Given the description of an element on the screen output the (x, y) to click on. 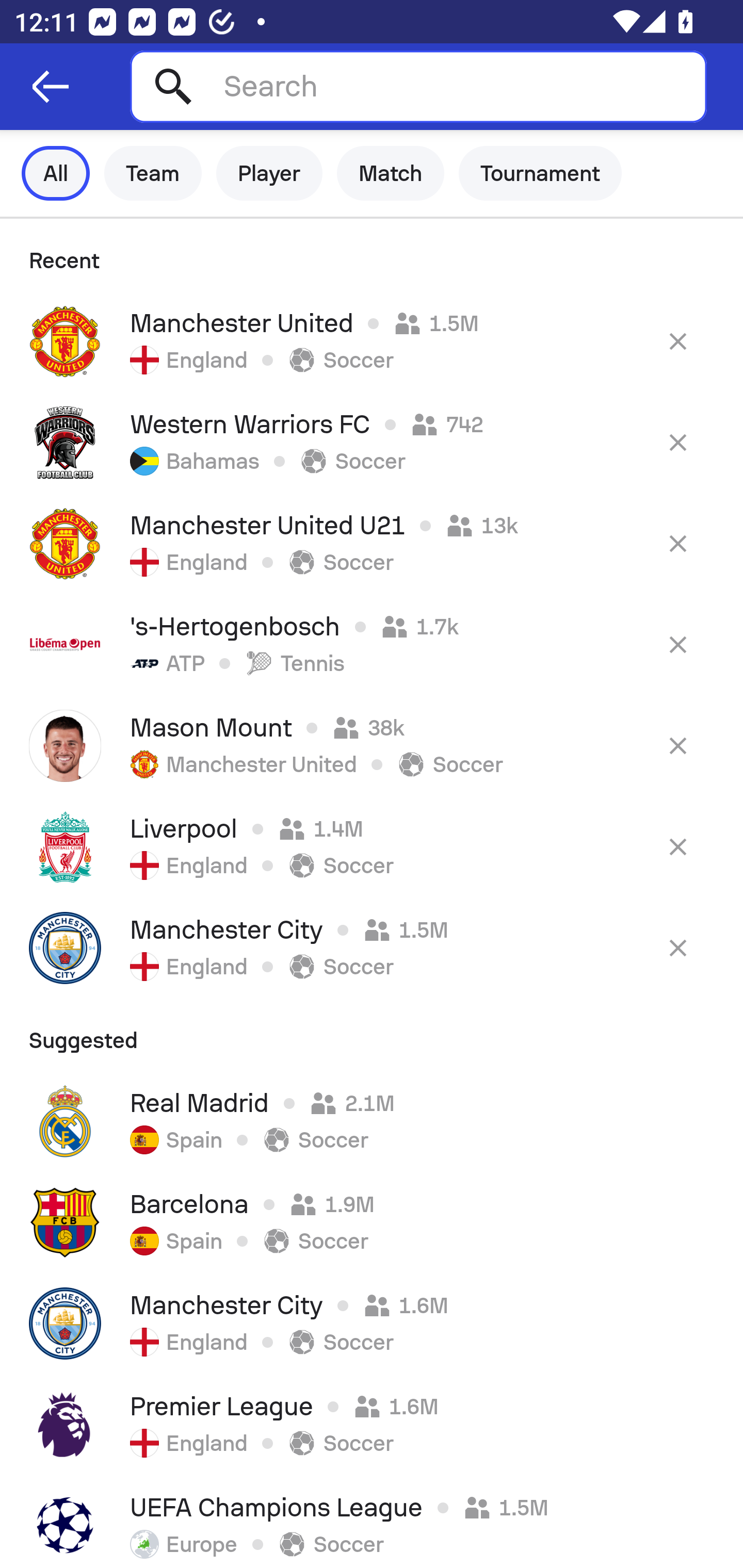
Navigate up (50, 86)
Search (418, 86)
All (55, 172)
Team (152, 172)
Player (268, 172)
Match (390, 172)
Tournament (540, 172)
Recent (371, 254)
Manchester United 1.5M England Soccer (371, 341)
Western Warriors FC 742 Bahamas Soccer (371, 442)
Manchester United U21 13k England Soccer (371, 543)
's-Hertogenbosch 1.7k ATP Tennis (371, 644)
Mason Mount 38k Manchester United Soccer (371, 745)
Liverpool 1.4M England Soccer (371, 846)
Manchester City 1.5M England Soccer (371, 947)
Suggested (371, 1034)
Real Madrid 2.1M Spain Soccer (371, 1120)
Barcelona 1.9M Spain Soccer (371, 1222)
Manchester City 1.6M England Soccer (371, 1323)
Premier League 1.6M England Soccer (371, 1424)
UEFA Champions League 1.5M Europe Soccer (371, 1521)
